Given the description of an element on the screen output the (x, y) to click on. 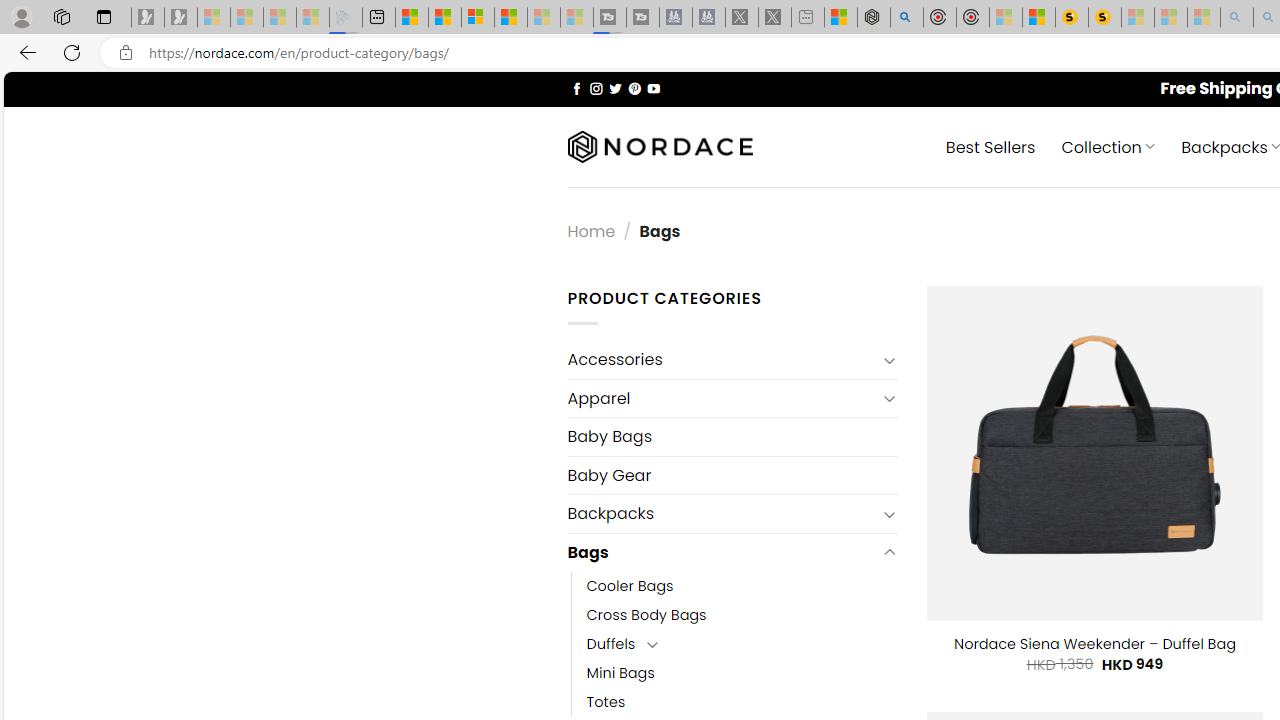
Overview (478, 17)
